Given the description of an element on the screen output the (x, y) to click on. 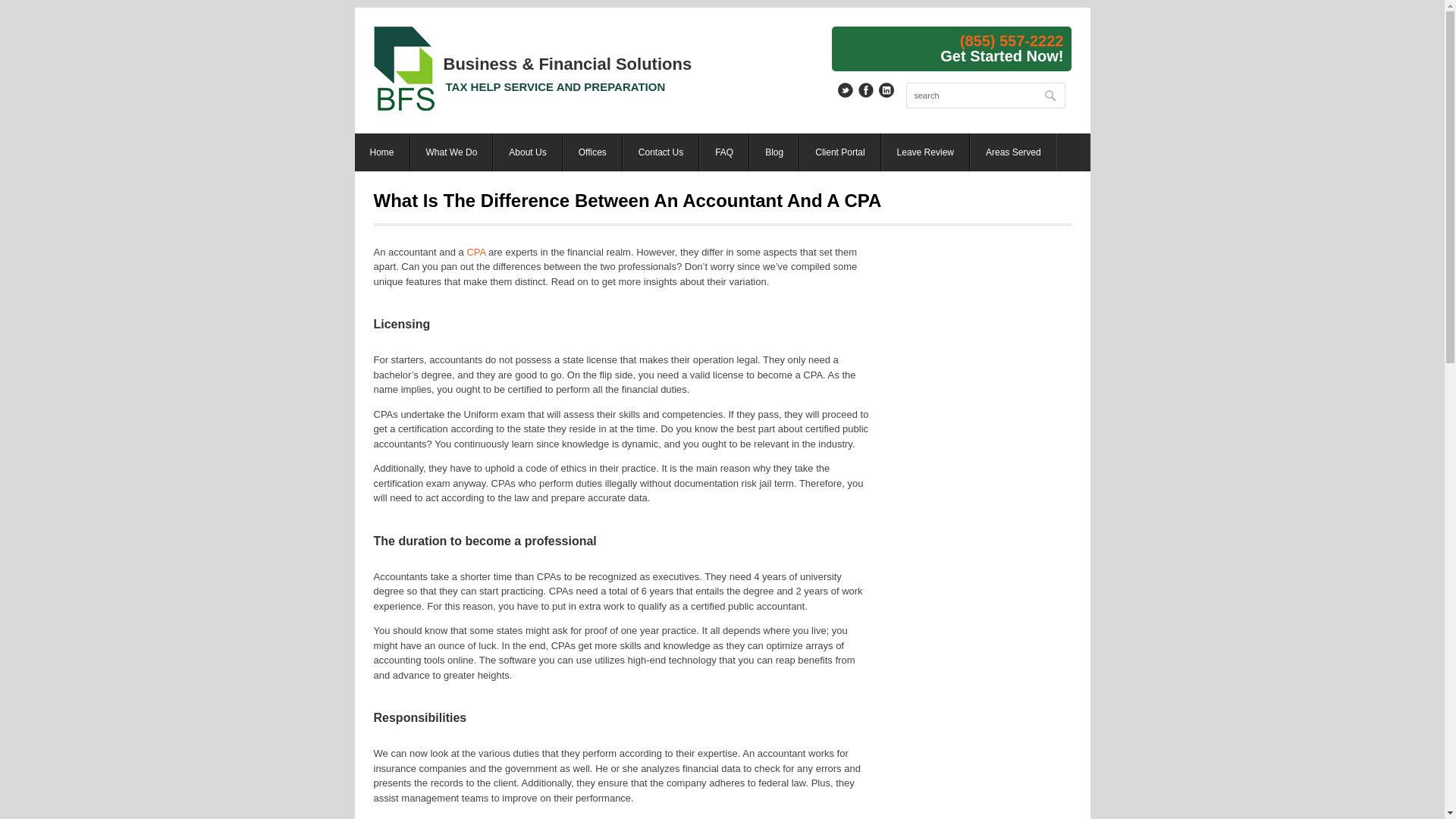
facebook (866, 89)
search (984, 95)
linkedin (885, 89)
Get Started Now! (1001, 54)
twitter (844, 89)
Contact Us (660, 152)
Offices (592, 152)
Home (382, 152)
What We Do (451, 152)
About Us (527, 152)
